Given the description of an element on the screen output the (x, y) to click on. 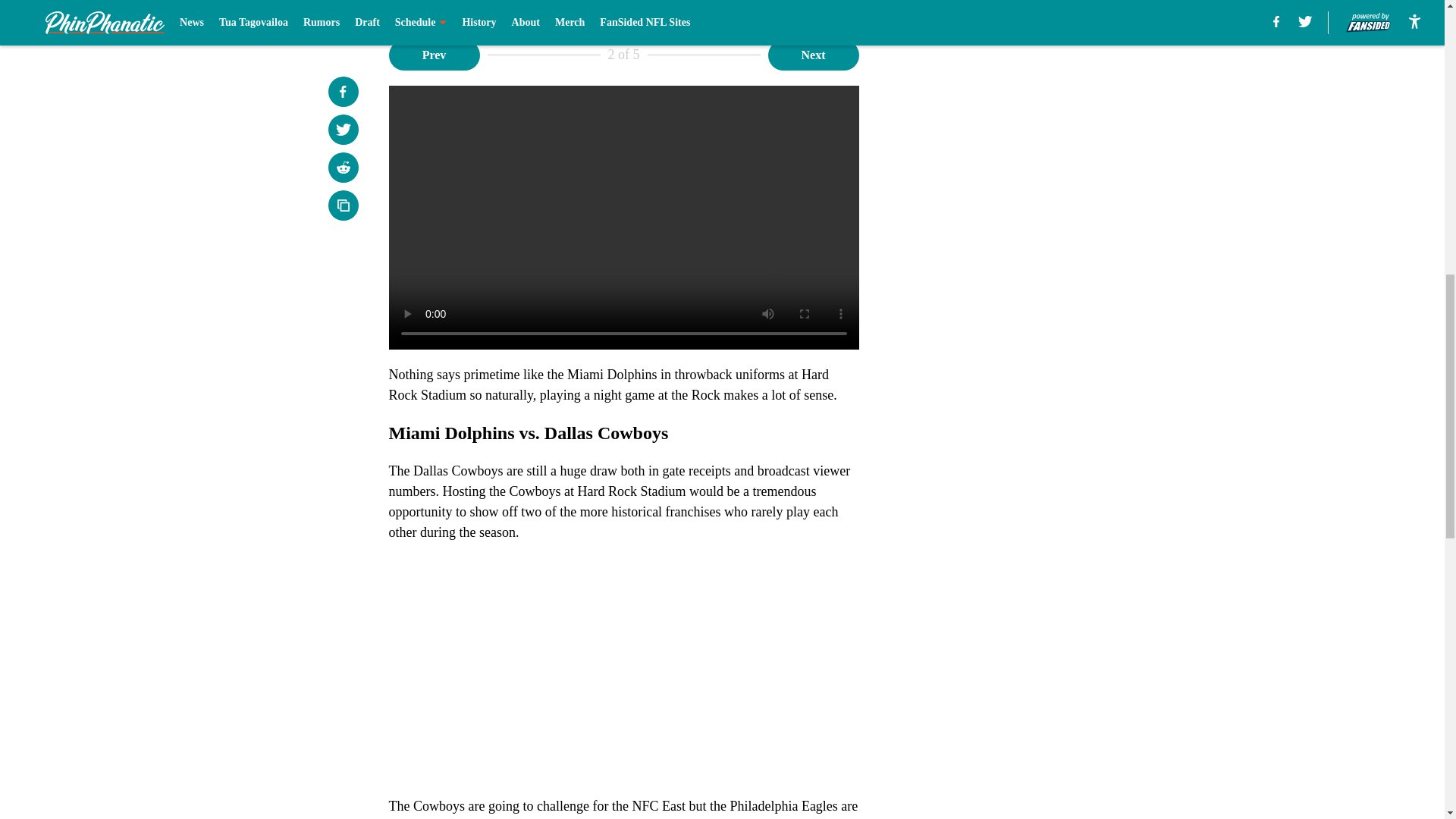
Prev (433, 54)
3rd party ad content (1047, 134)
Next (813, 54)
3rd party ad content (1047, 353)
